Given the description of an element on the screen output the (x, y) to click on. 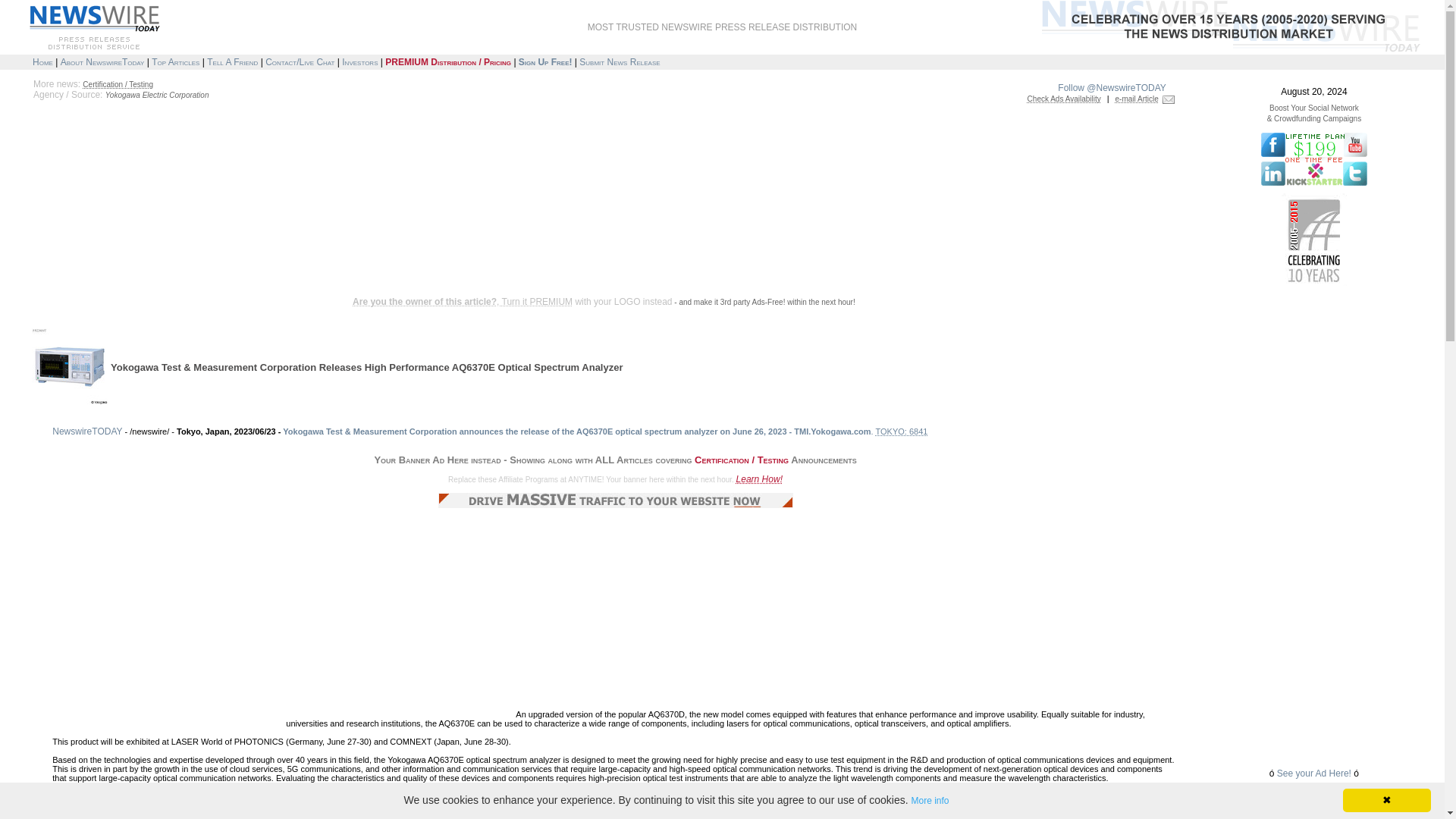
About NewswireToday (102, 61)
Sign Up Free! (545, 61)
Check Ads Availability (1063, 98)
Tell A Friend (231, 61)
Advertisement (300, 246)
Contact NewswireToday (299, 61)
Top Articles (175, 61)
Tell a friend about NewswireToday (231, 61)
About NewswireToday (102, 61)
